Given the description of an element on the screen output the (x, y) to click on. 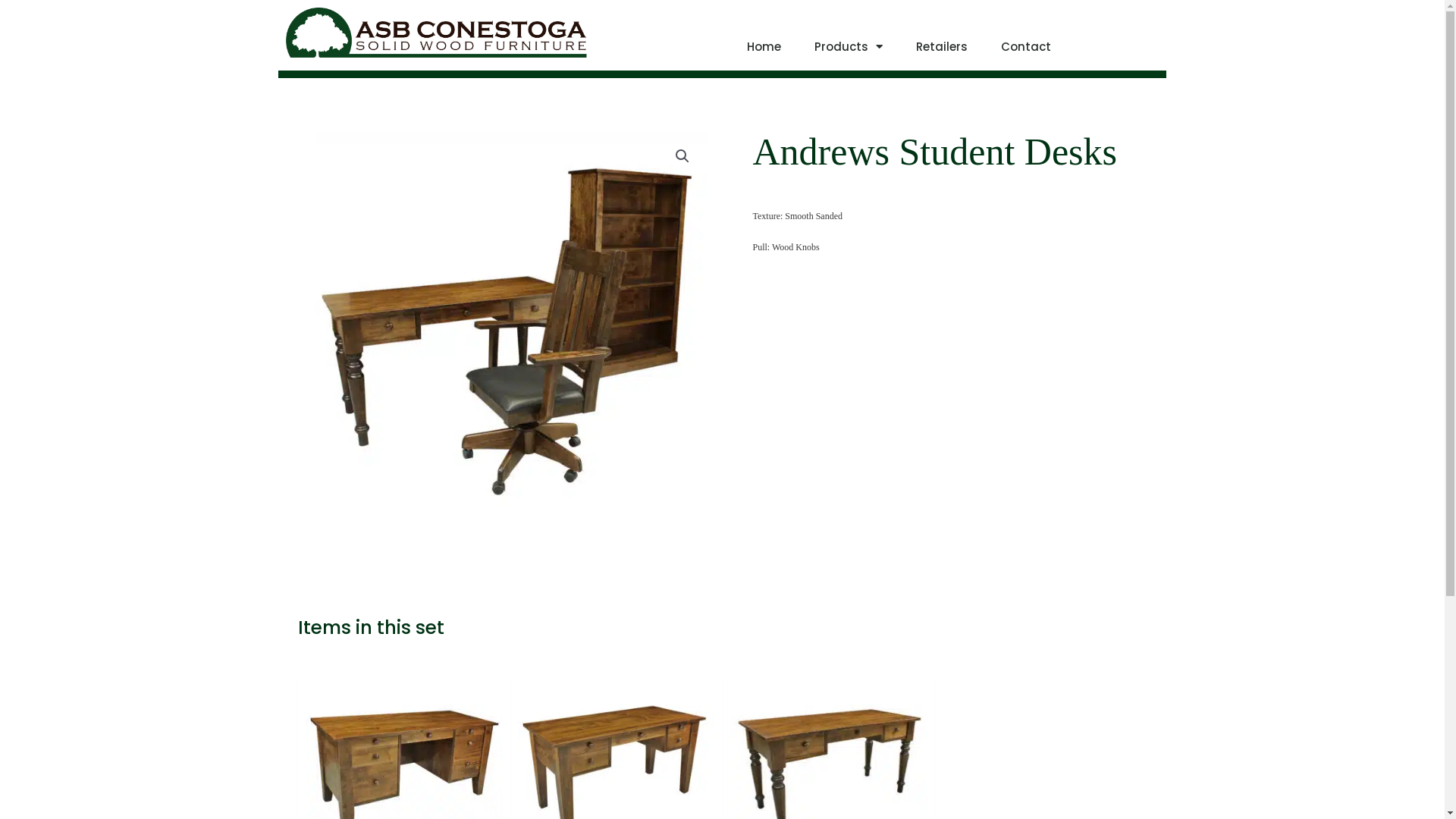
Products Element type: text (848, 46)
Office 1 Element type: hover (505, 332)
Retailers Element type: text (941, 46)
Contact Element type: text (1025, 46)
Home Element type: text (763, 46)
